Given the description of an element on the screen output the (x, y) to click on. 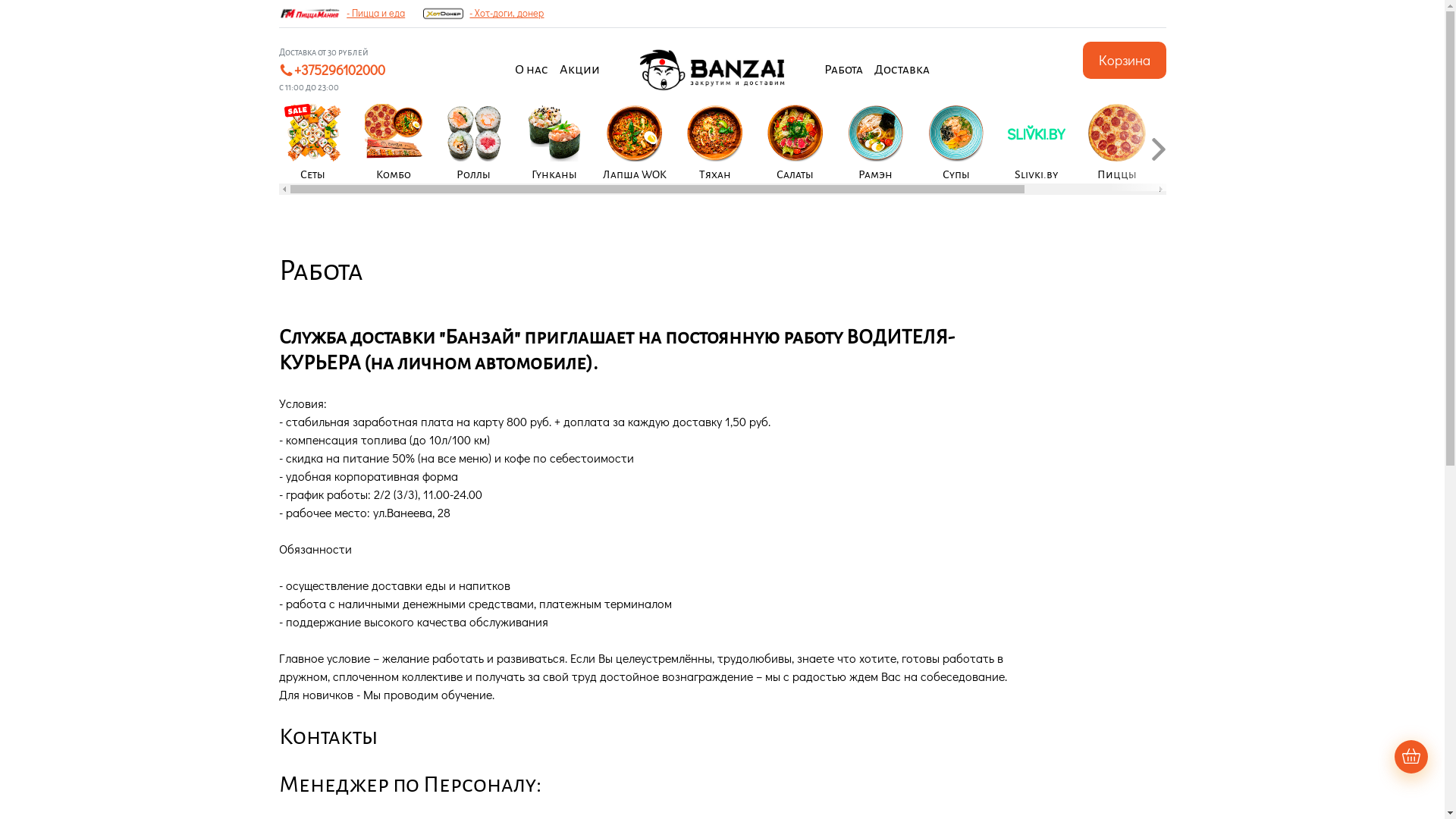
Slivki.by Element type: text (1036, 143)
+375296102000 Element type: text (343, 69)
